Given the description of an element on the screen output the (x, y) to click on. 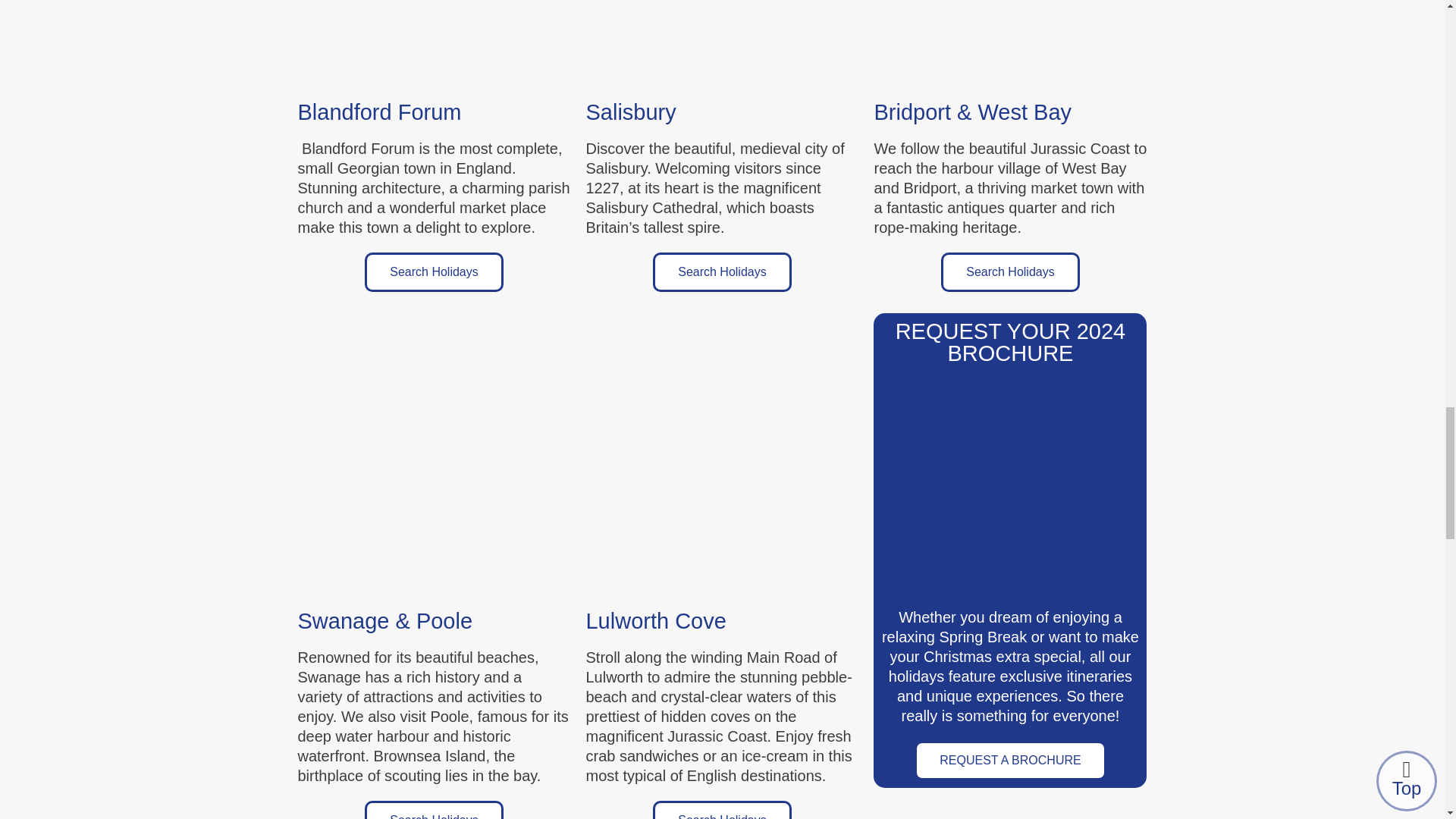
Search Holidays (434, 809)
Search Holidays (722, 809)
Search Holidays (722, 271)
Search Holidays (1010, 271)
Search Holidays (434, 271)
REQUEST A BROCHURE (1009, 760)
